Given the description of an element on the screen output the (x, y) to click on. 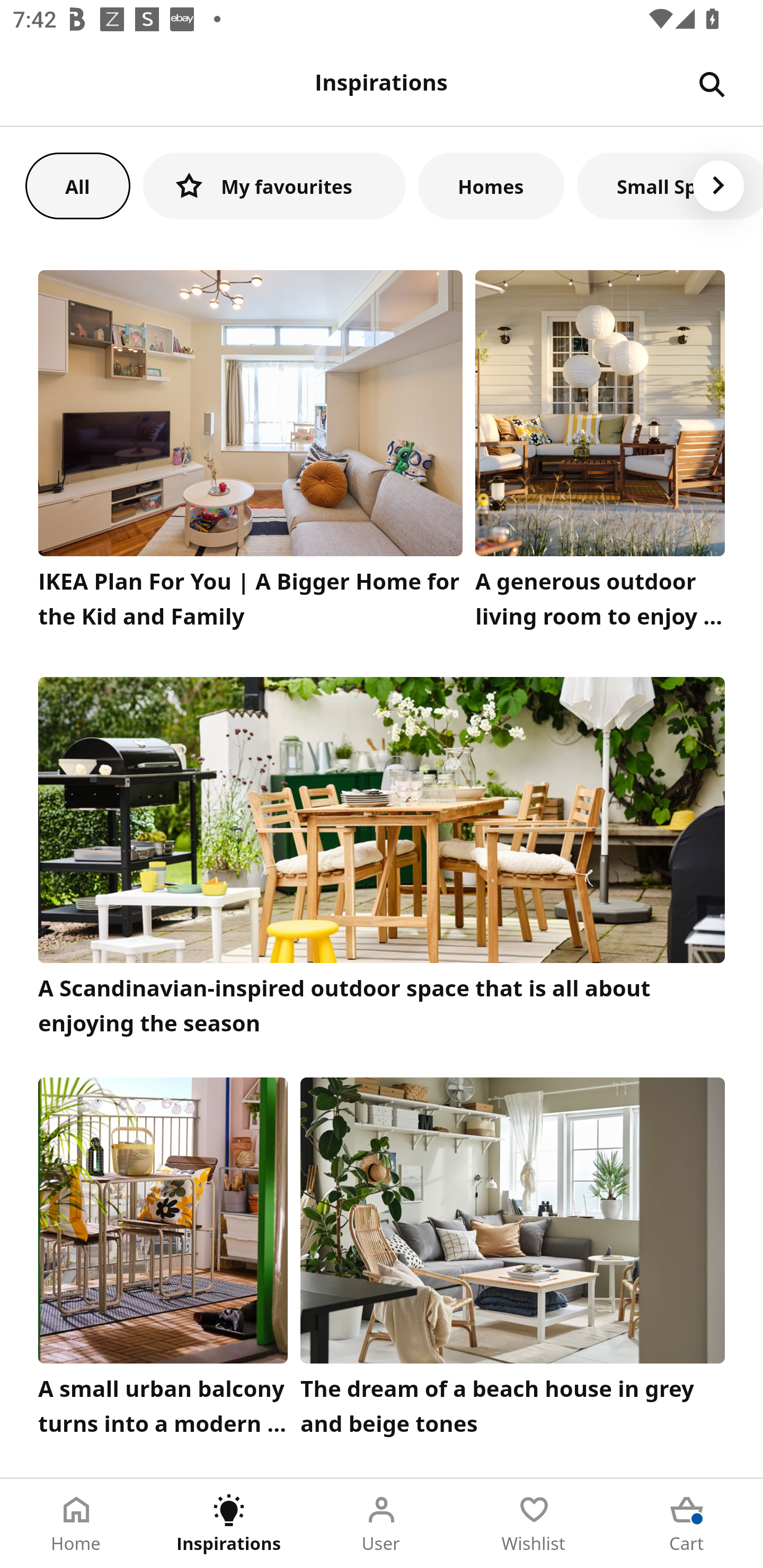
All (77, 185)
My favourites (274, 185)
Homes (491, 185)
The dream of a beach house in grey and beige tones (512, 1261)
Home
Tab 1 of 5 (76, 1522)
Inspirations
Tab 2 of 5 (228, 1522)
User
Tab 3 of 5 (381, 1522)
Wishlist
Tab 4 of 5 (533, 1522)
Cart
Tab 5 of 5 (686, 1522)
